Given the description of an element on the screen output the (x, y) to click on. 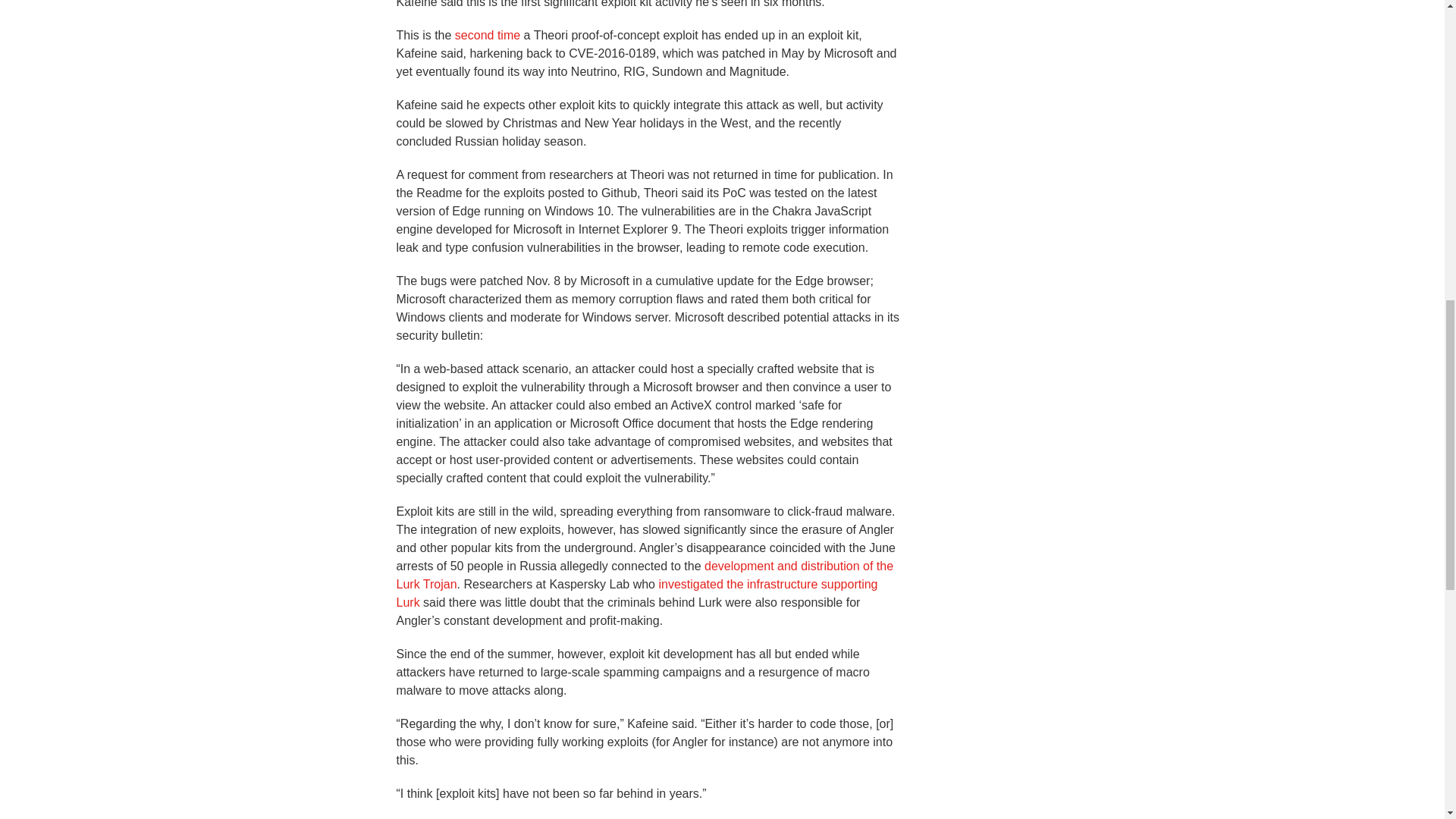
second time (486, 34)
investigated the infrastructure supporting Lurk (636, 593)
development and distribution of the Lurk Trojan (644, 574)
